Given the description of an element on the screen output the (x, y) to click on. 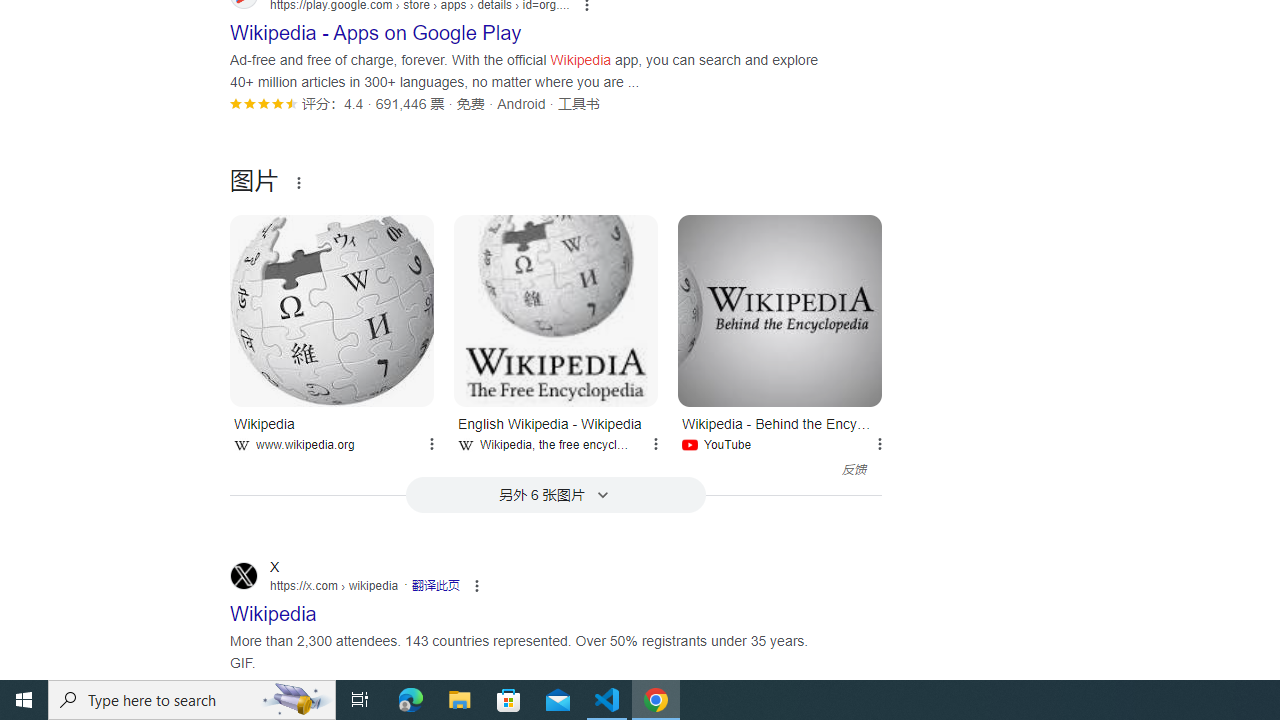
Wikipedia - Behind the Encyclopedia YouTube (779, 431)
English Wikipedia - Wikipedia (555, 309)
Wikipedia - Behind the Encyclopedia (779, 309)
Wikipedia (331, 309)
Wikipedia www.wikipedia.org (331, 431)
Wikipedia (331, 309)
English Wikipedia - Wikipedia (555, 309)
Wikipedia - Behind the Encyclopedia (779, 309)
